Given the description of an element on the screen output the (x, y) to click on. 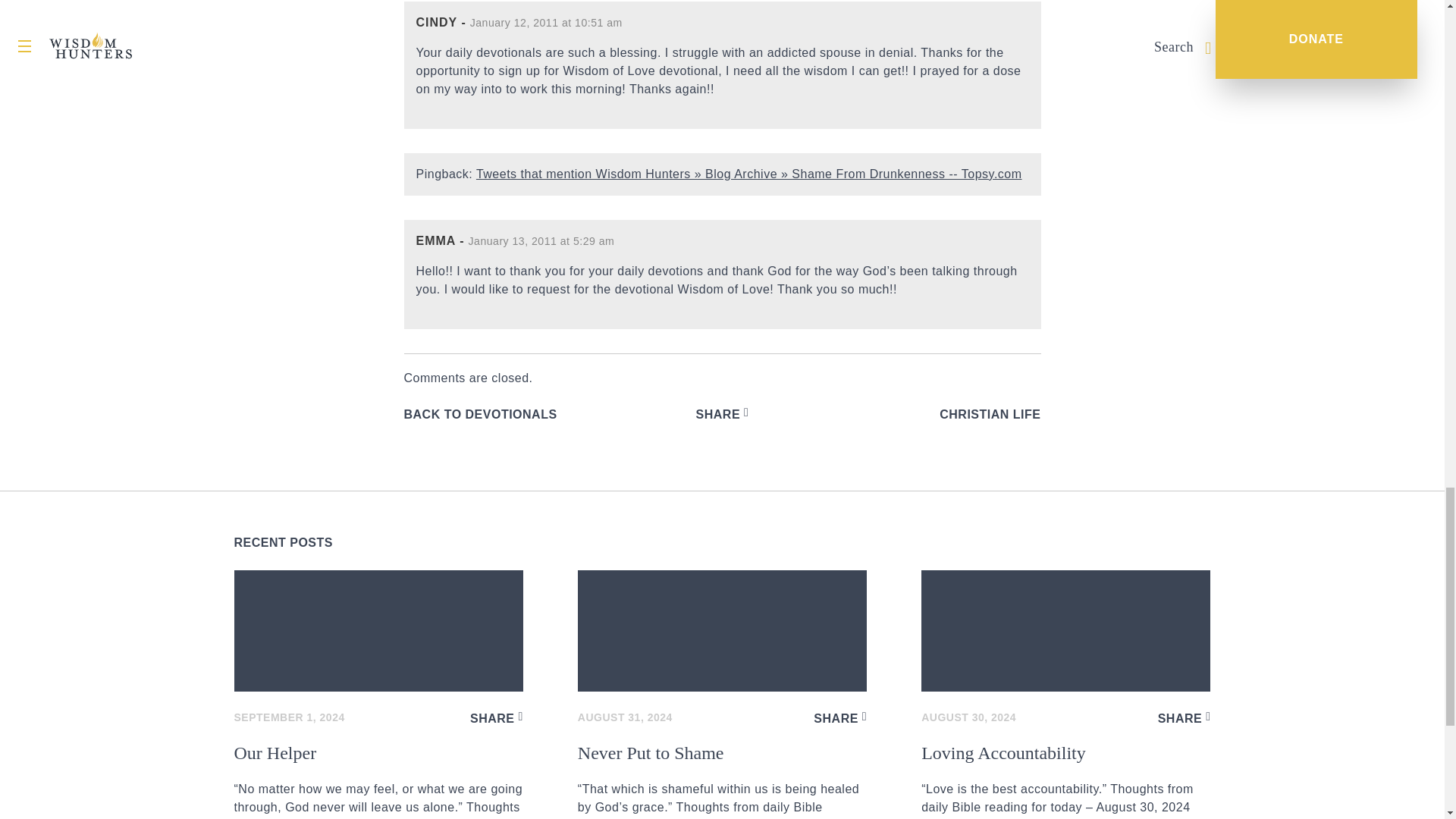
Permalink to: Our Helper (377, 630)
Permalink to: Never Put to Shame (722, 630)
January 12, 2011 at 10:51 am (546, 22)
Permalink to: Never Put to Shame (722, 780)
January 13, 2011 at 5:29 am (541, 241)
SHARE (722, 413)
Permalink to: Loving Accountability (1065, 630)
Permalink to: Our Helper (377, 780)
BACK TO DEVOTIONALS (479, 413)
Permalink to: Loving Accountability (1065, 780)
